Given the description of an element on the screen output the (x, y) to click on. 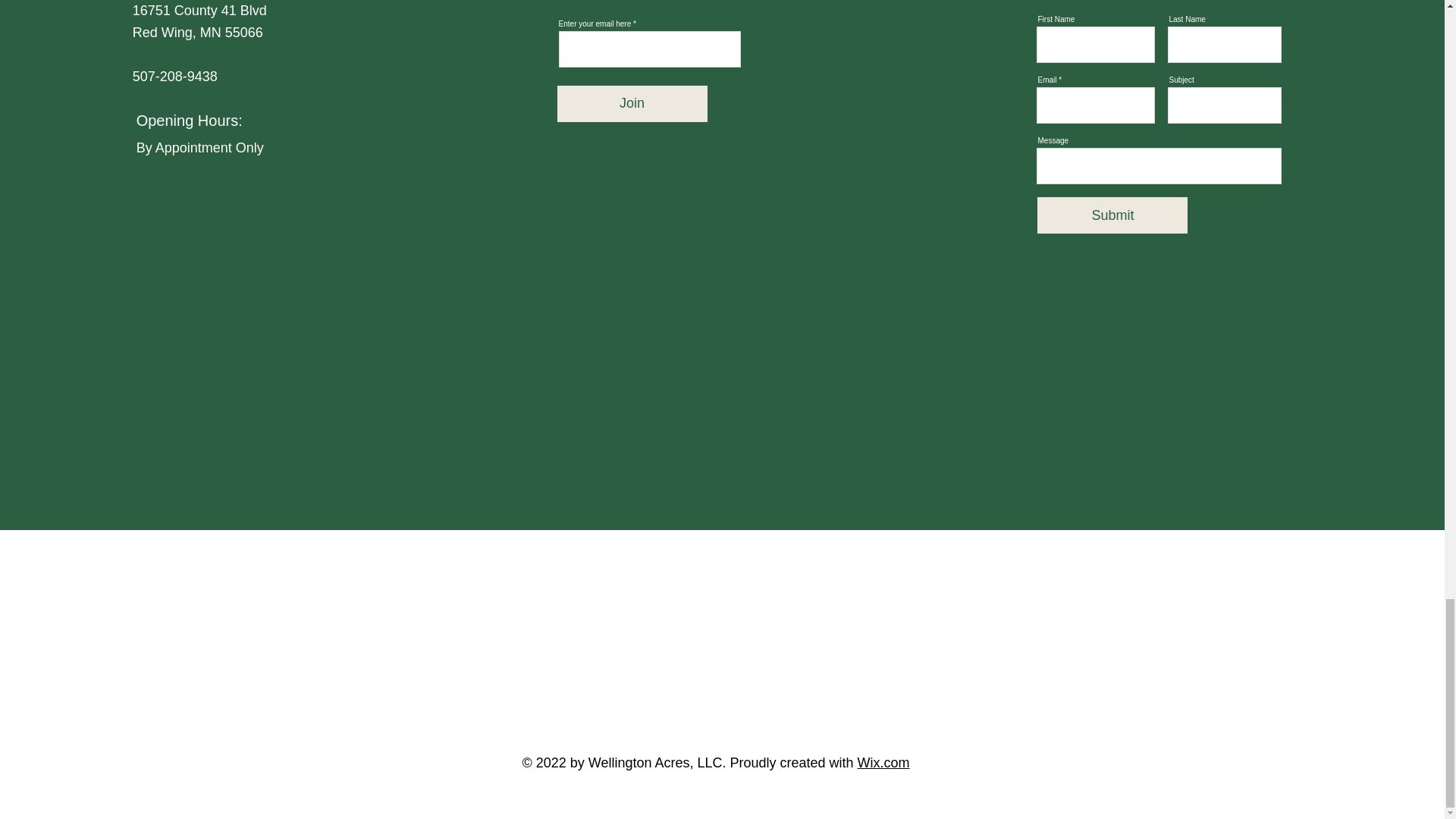
Wix.com (883, 762)
Join (631, 103)
Submit (1112, 215)
